Given the description of an element on the screen output the (x, y) to click on. 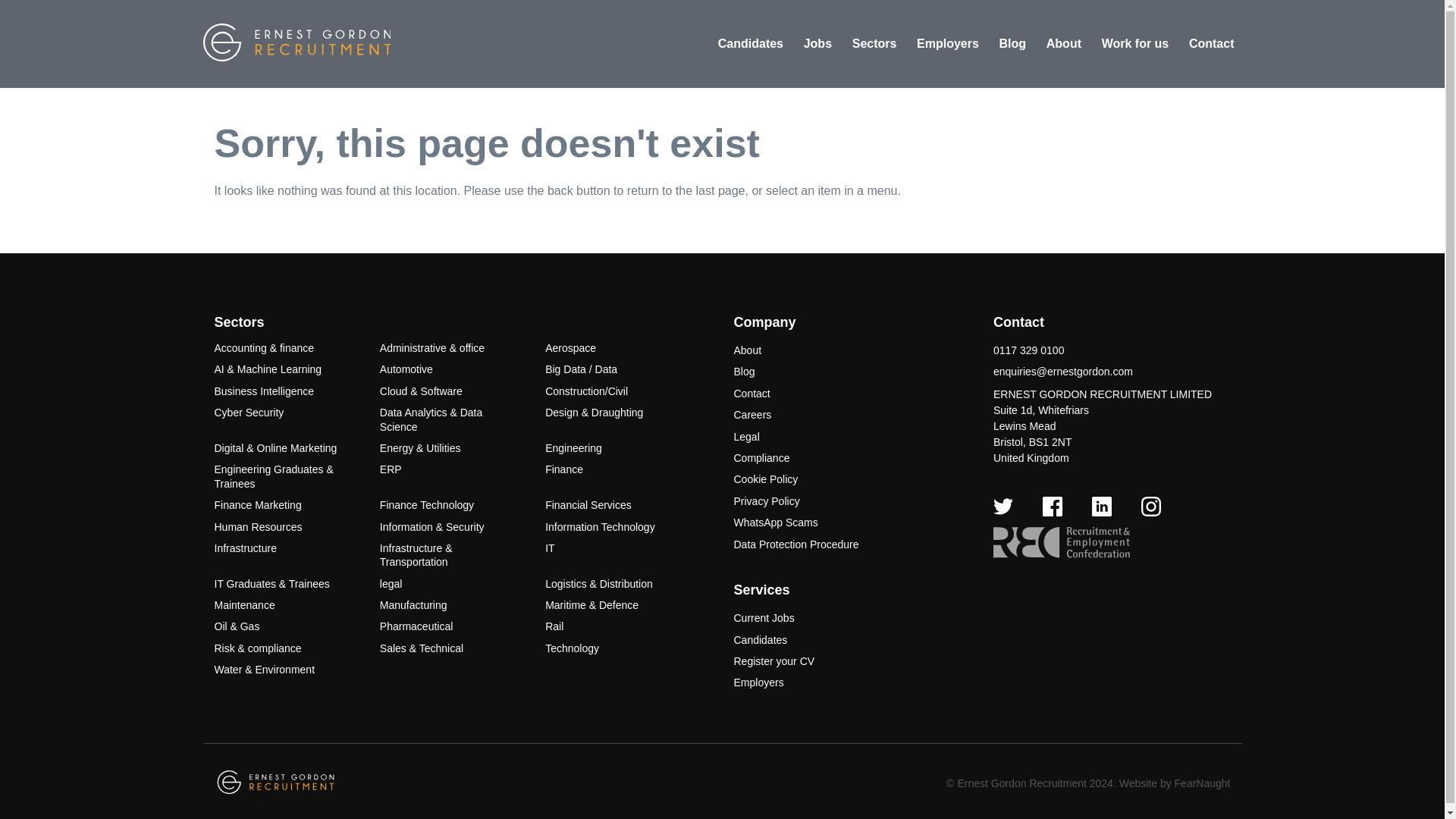
Financial Services (587, 504)
Infrastructure (245, 548)
Work for us (1135, 43)
Finance (563, 469)
Finance Marketing (257, 504)
Aerospace (569, 347)
Engineering (573, 448)
Human Resources (257, 526)
Candidates (750, 43)
Finance Technology (427, 504)
